Given the description of an element on the screen output the (x, y) to click on. 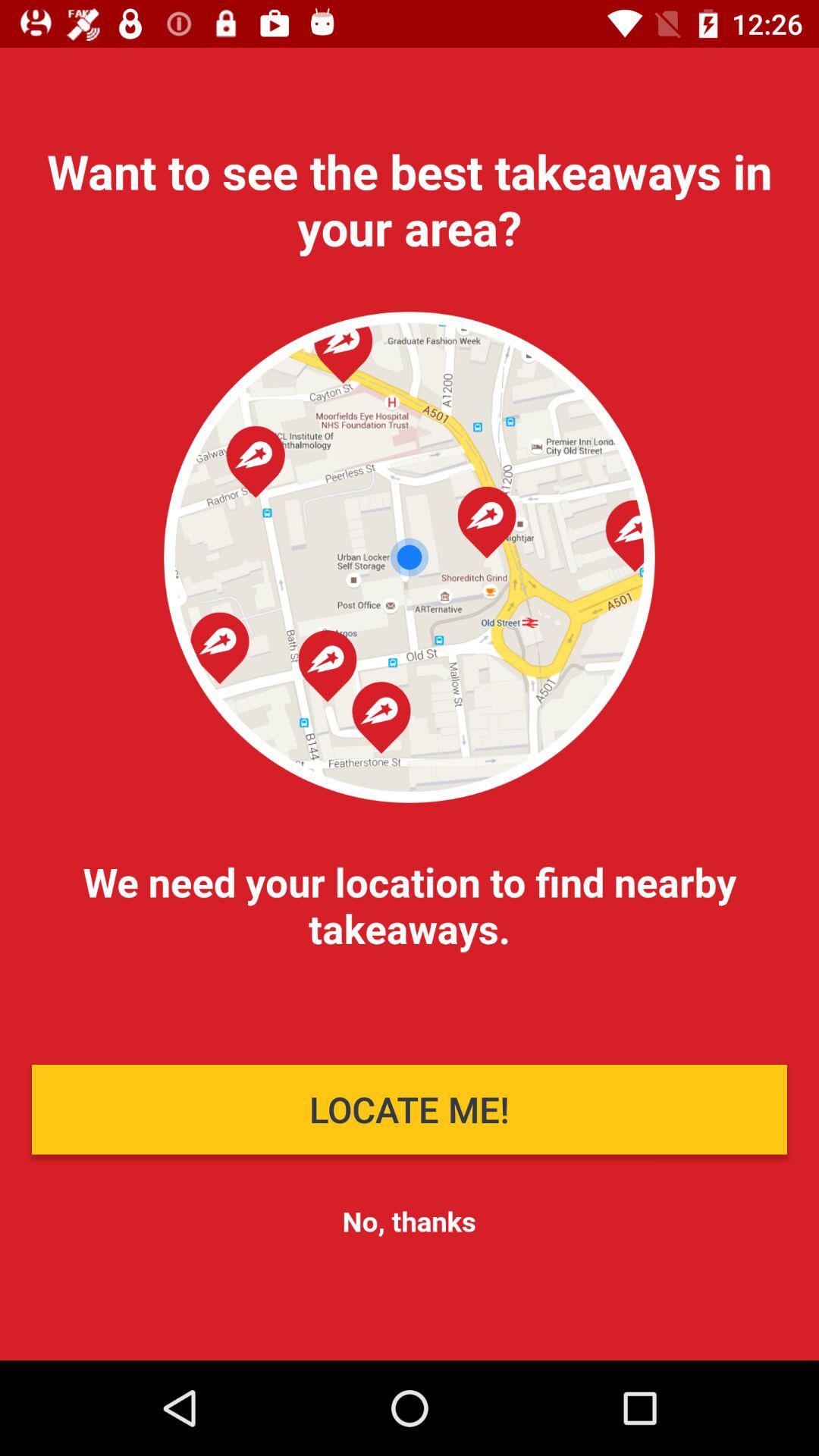
jump to no, thanks item (409, 1220)
